Given the description of an element on the screen output the (x, y) to click on. 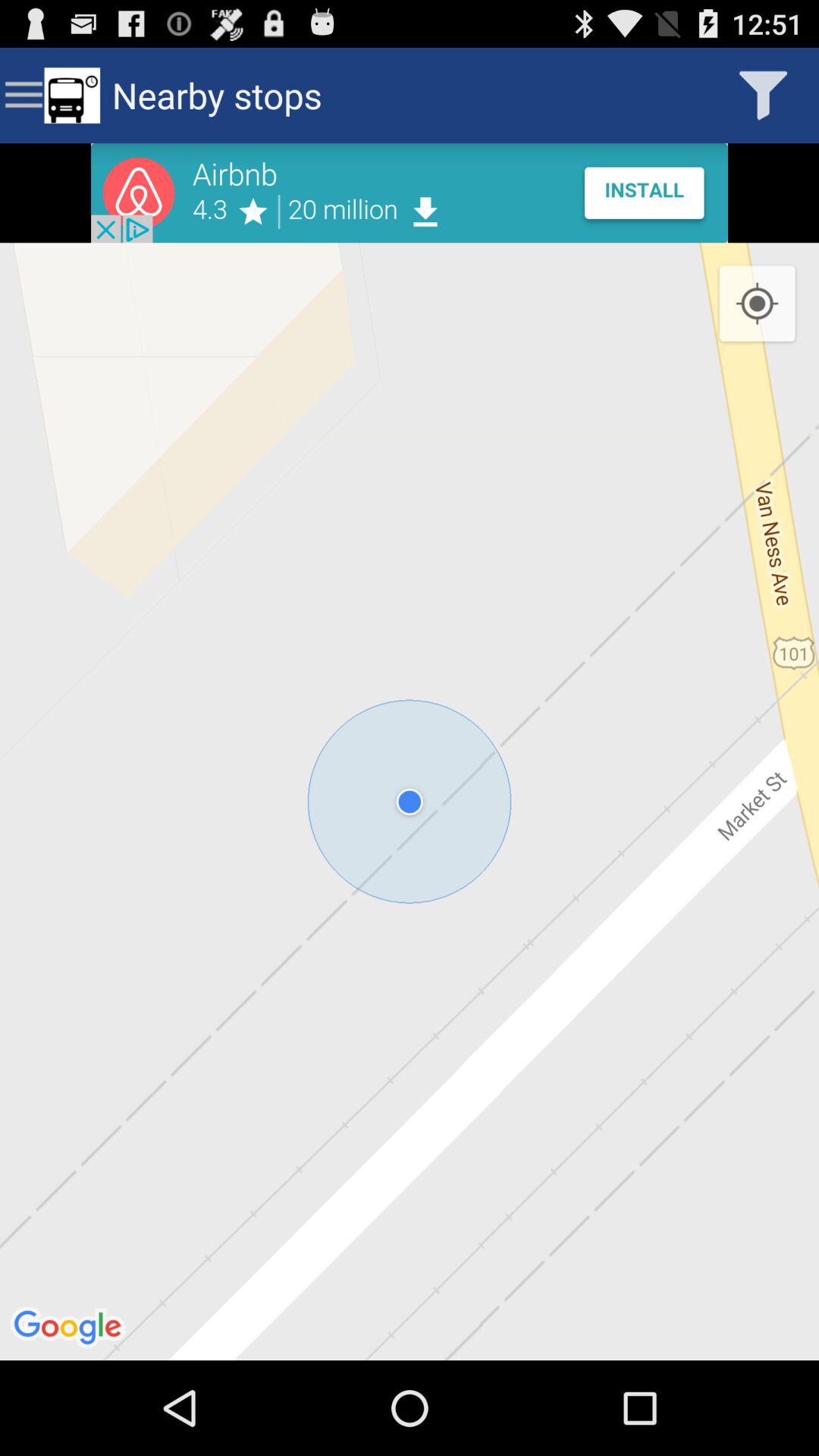
open advertisement (409, 192)
